Given the description of an element on the screen output the (x, y) to click on. 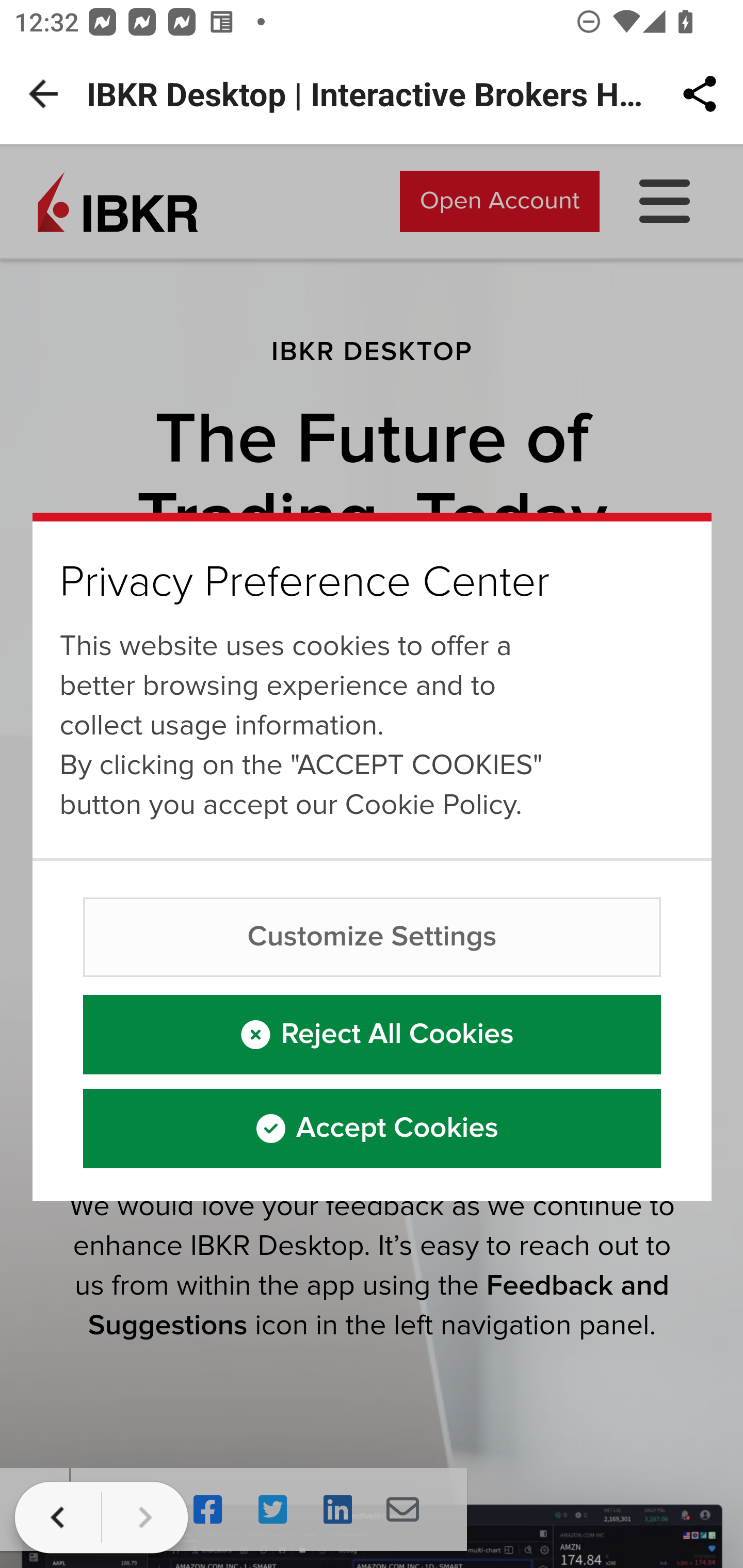
Customize Settings (372, 936)
 Reject All Cookies  Reject All Cookies (372, 1033)
 Accept Cookies  Accept Cookies (372, 1127)
